Given the description of an element on the screen output the (x, y) to click on. 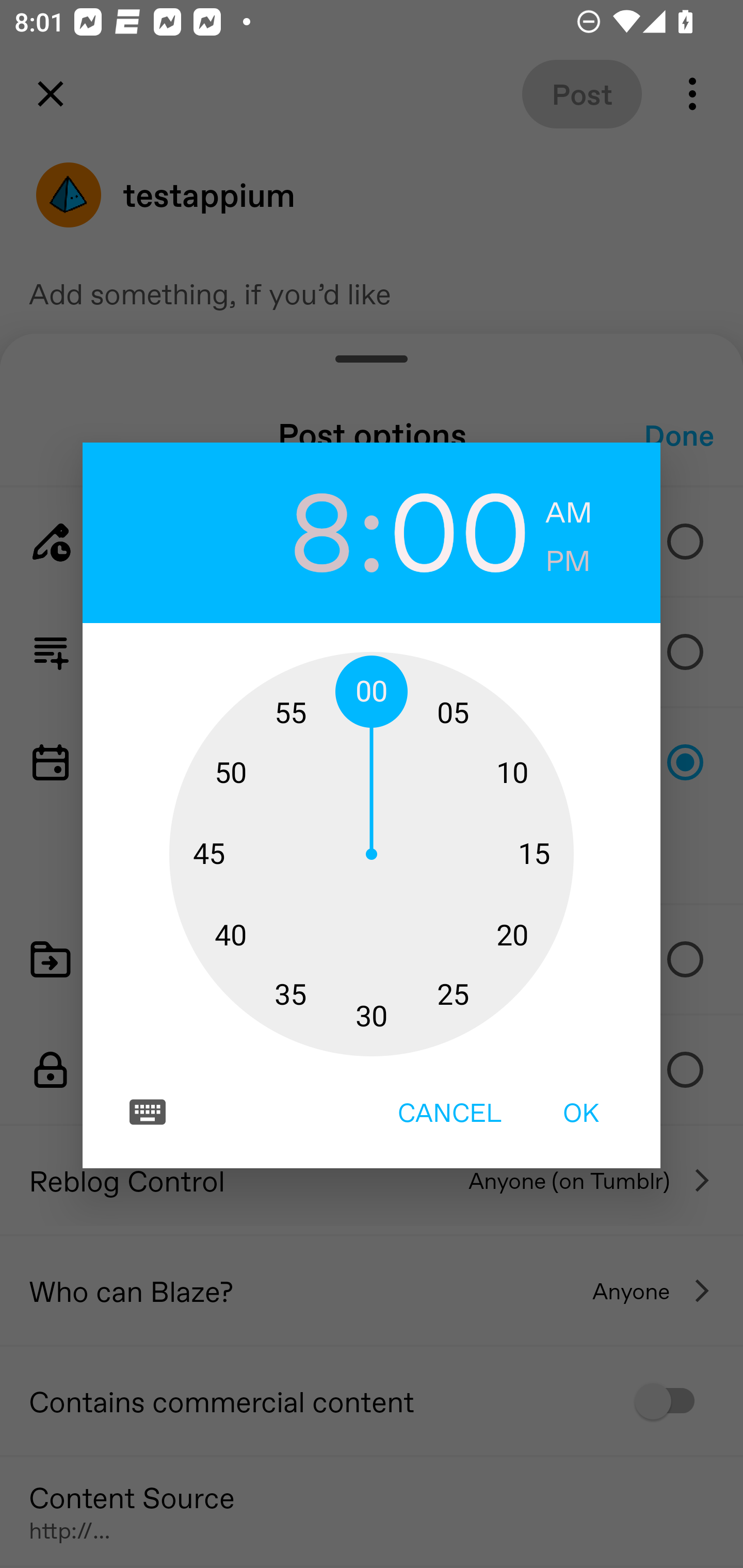
8 (282, 528)
00 (459, 528)
AM (568, 512)
PM (567, 560)
CANCEL (449, 1111)
OK (580, 1111)
Switch to text input mode for the time input. (147, 1112)
